Given the description of an element on the screen output the (x, y) to click on. 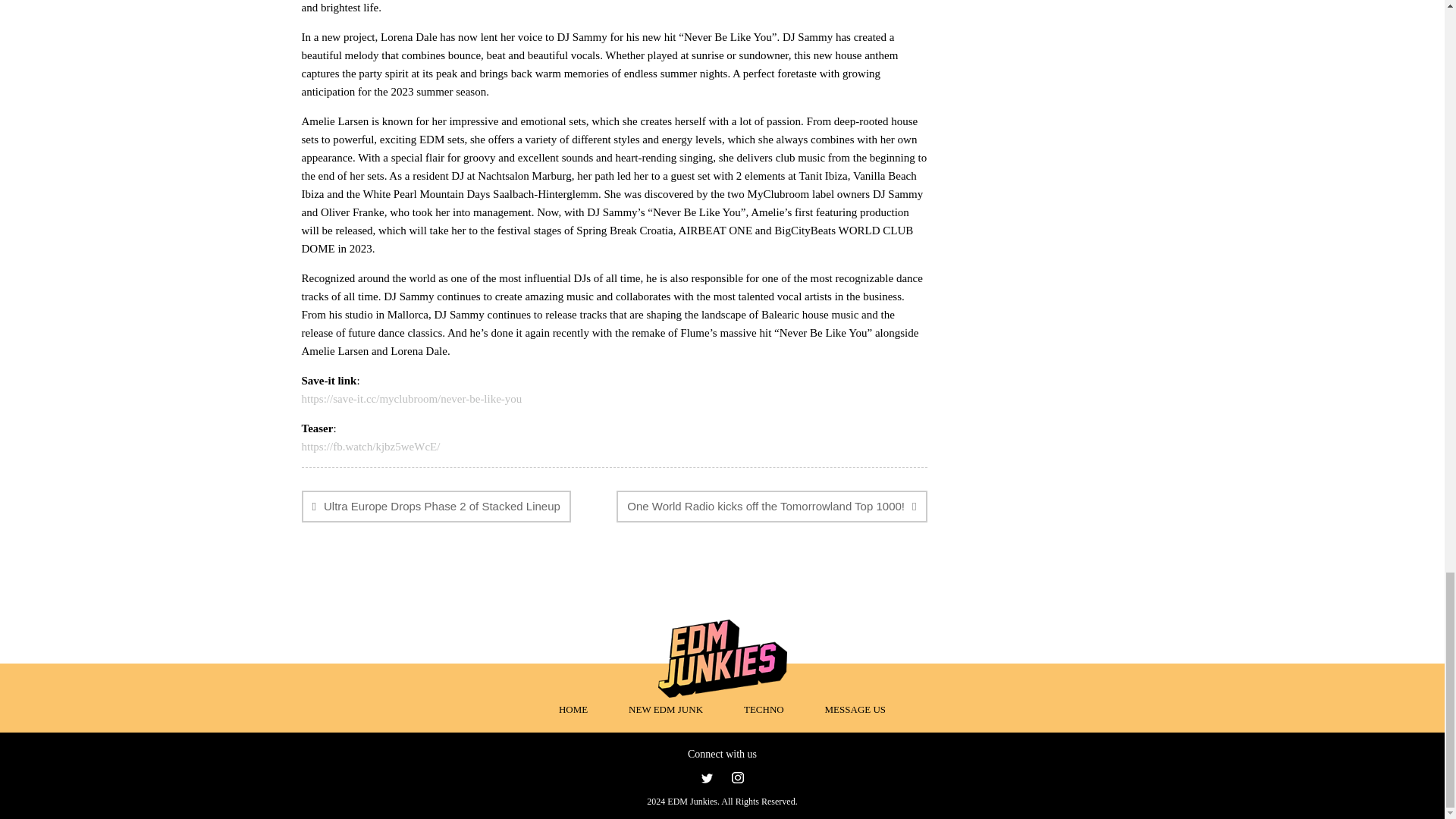
TECHNO (764, 708)
Ultra Europe Drops Phase 2 of Stacked Lineup (435, 506)
NEW EDM JUNK (665, 708)
HOME (573, 708)
One World Radio kicks off the Tomorrowland Top 1000! (770, 506)
MESSAGE US (855, 708)
